Given the description of an element on the screen output the (x, y) to click on. 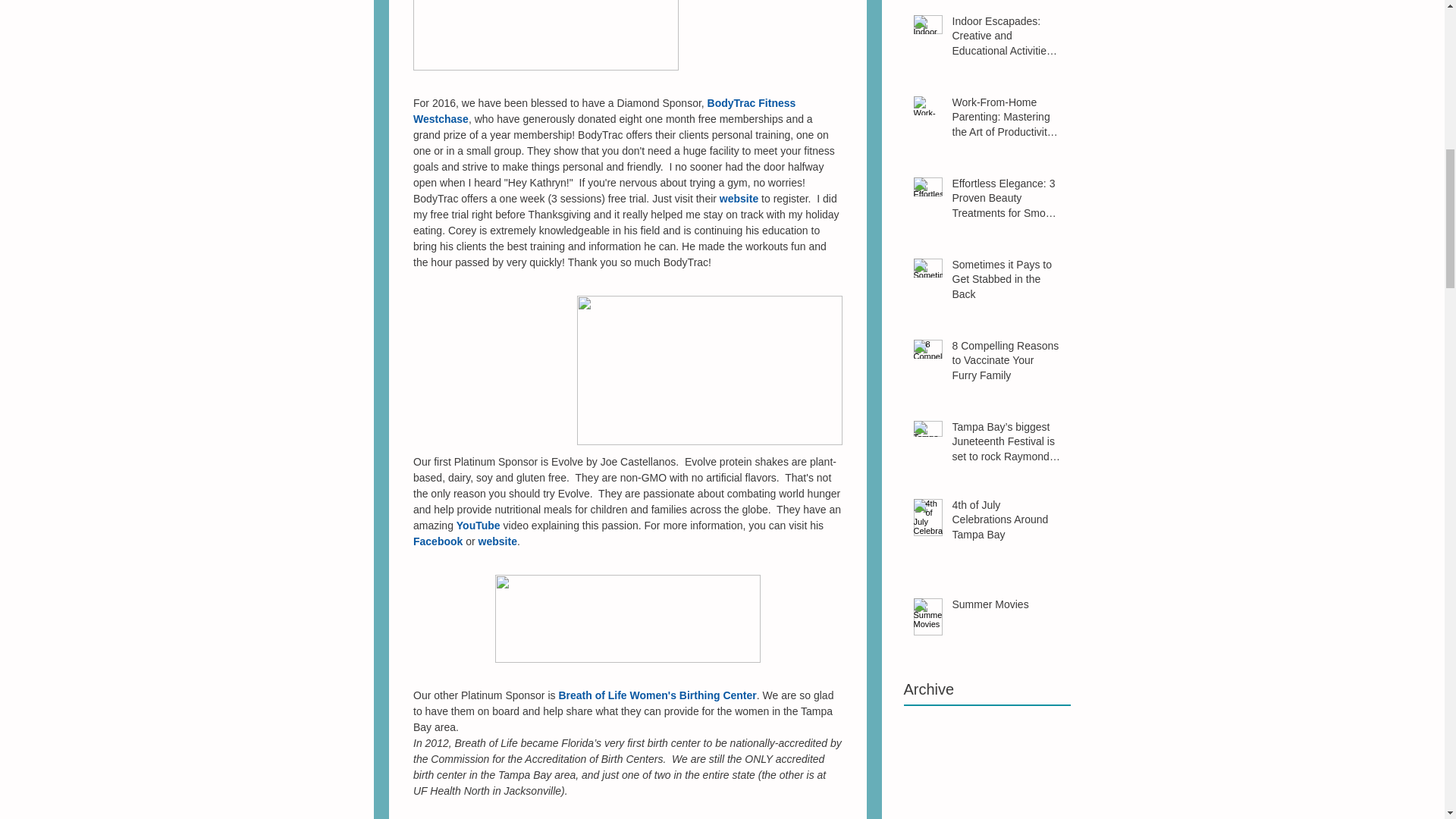
YouTube (477, 525)
Breath of Life Women's Birthing Center (656, 695)
Facebook (436, 541)
website (738, 198)
website (496, 541)
BodyTrac Fitness Westchase (604, 111)
